Given the description of an element on the screen output the (x, y) to click on. 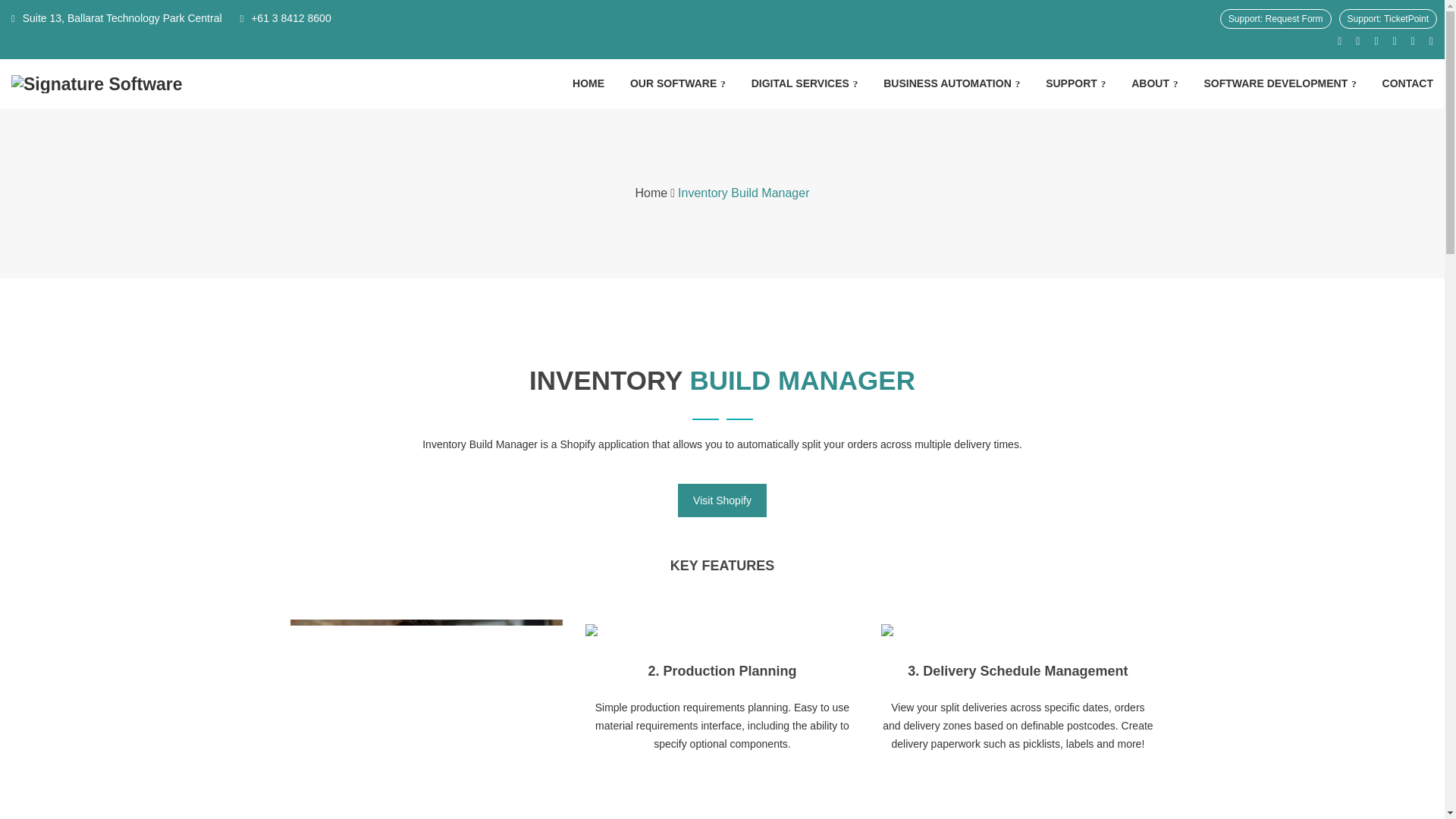
DIGITAL SERVICES (805, 83)
Signature Software (180, 84)
BUSINESS AUTOMATION (951, 83)
OUR SOFTWARE (677, 83)
Support: Request Form (1276, 18)
Support: TicketPoint (1388, 18)
Visit Shopify (722, 500)
 Submit a Support Request via Online Form (1276, 18)
HOME (588, 83)
Submit a Support Request via TicketPoint (1388, 18)
